Given the description of an element on the screen output the (x, y) to click on. 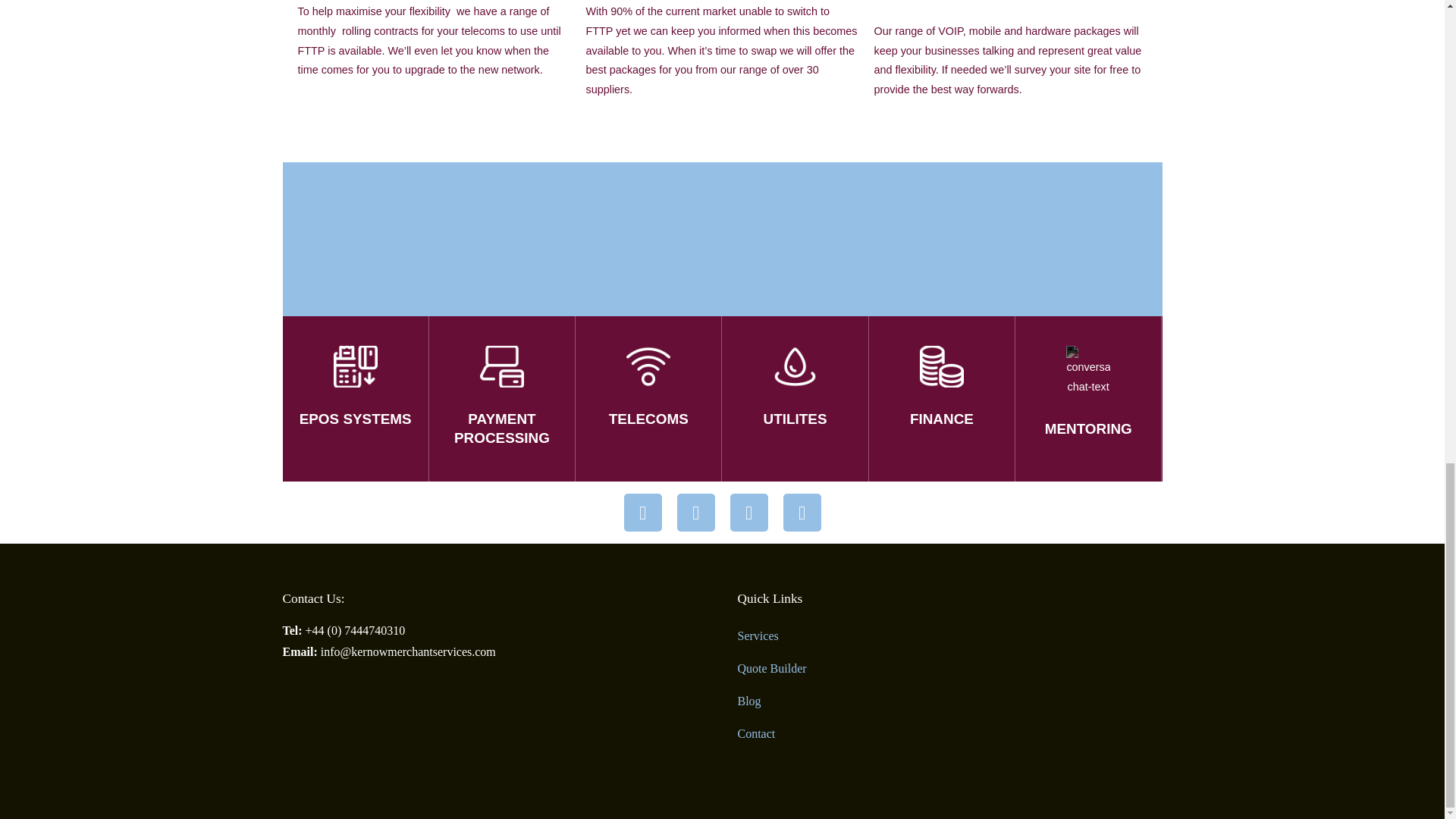
PAYMENT PROCESSING (502, 428)
credit-card-payment (355, 366)
TELECOMS (648, 418)
accounting-coins-stack (941, 366)
water-protection-drop-1 (794, 366)
EPOS SYSTEMS (355, 418)
wifi (647, 366)
credit-card-laptop-payment (502, 366)
